Given the description of an element on the screen output the (x, y) to click on. 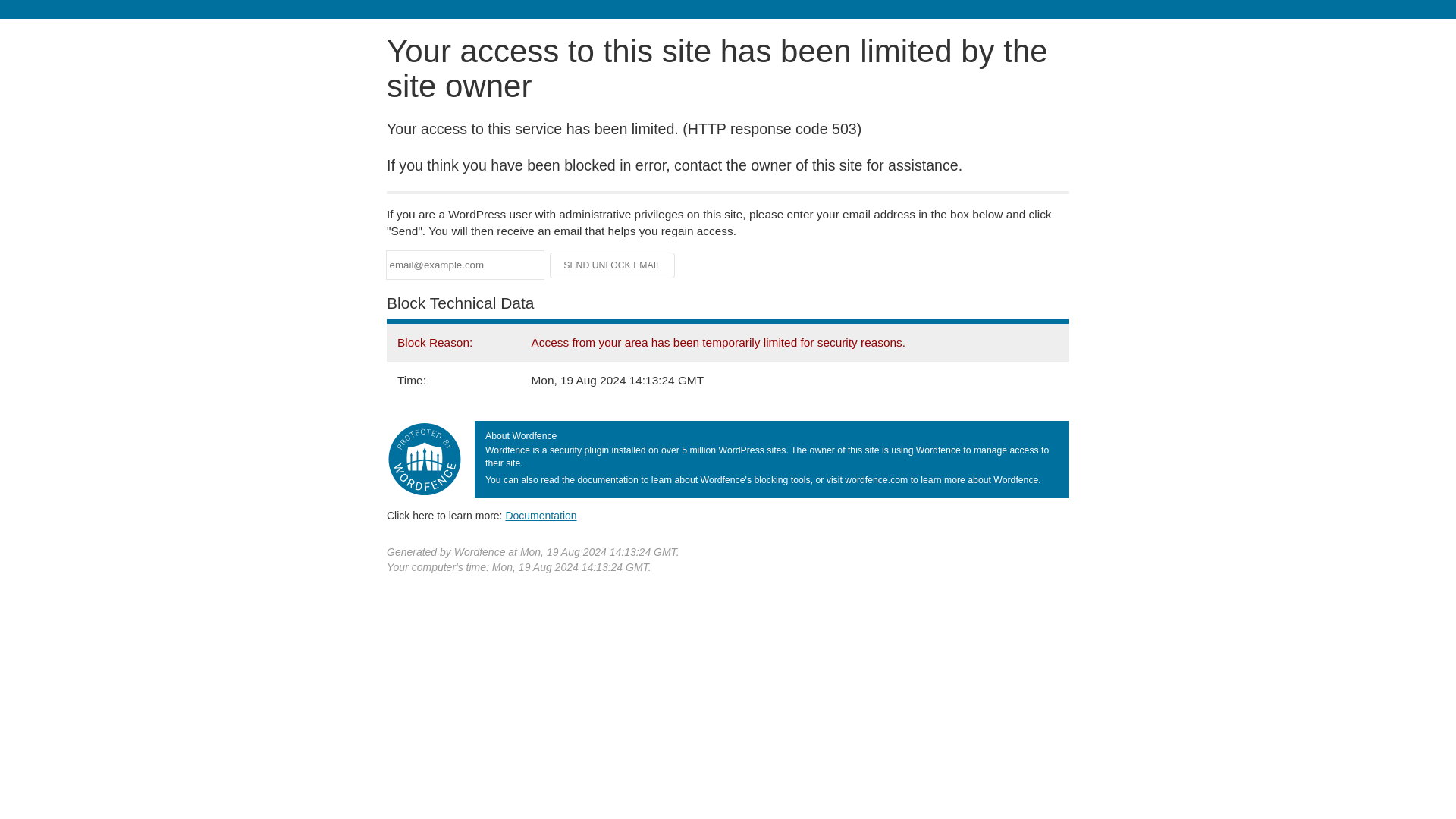
Send Unlock Email (612, 265)
Documentation (540, 515)
Send Unlock Email (612, 265)
